Given the description of an element on the screen output the (x, y) to click on. 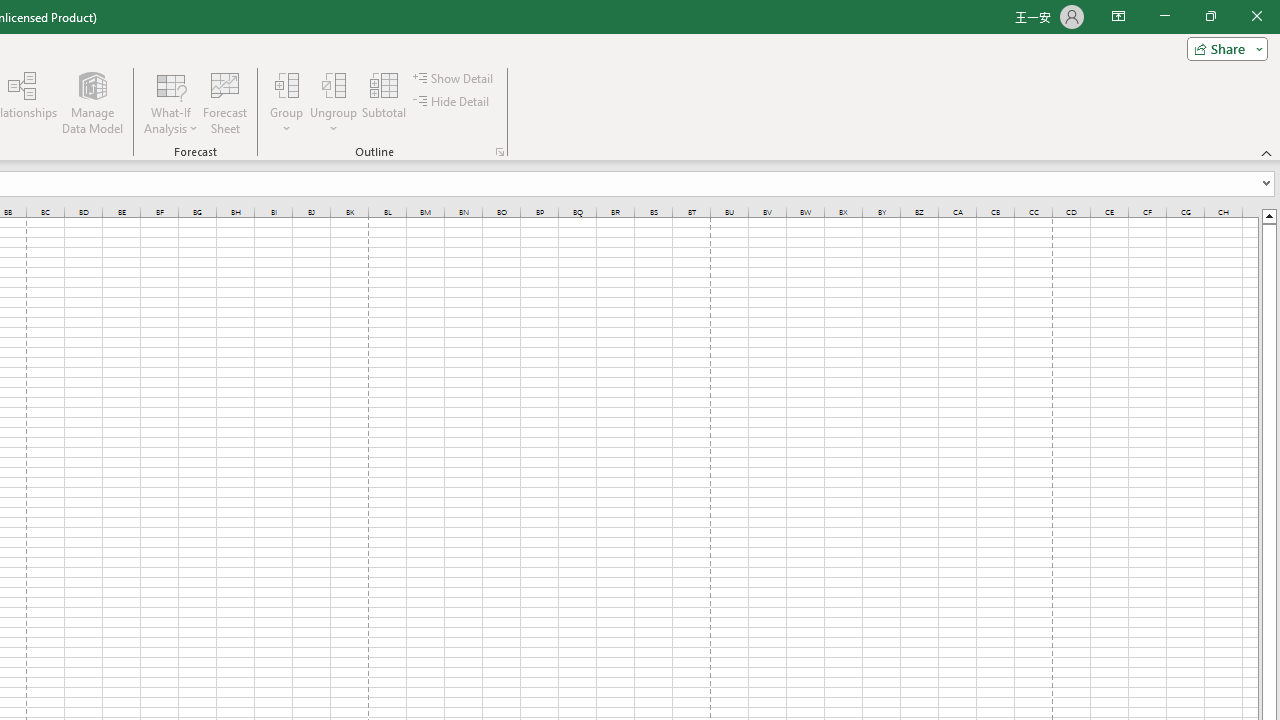
Collapse the Ribbon (1267, 152)
Restore Down (1210, 16)
What-If Analysis (171, 102)
More Options (333, 121)
Group... (287, 102)
Manage Data Model (92, 102)
Share (1223, 48)
Line up (1268, 215)
Ungroup... (333, 84)
Show Detail (454, 78)
Close (1256, 16)
Minimize (1164, 16)
Ribbon Display Options (1118, 16)
Group and Outline Settings (499, 151)
